Given the description of an element on the screen output the (x, y) to click on. 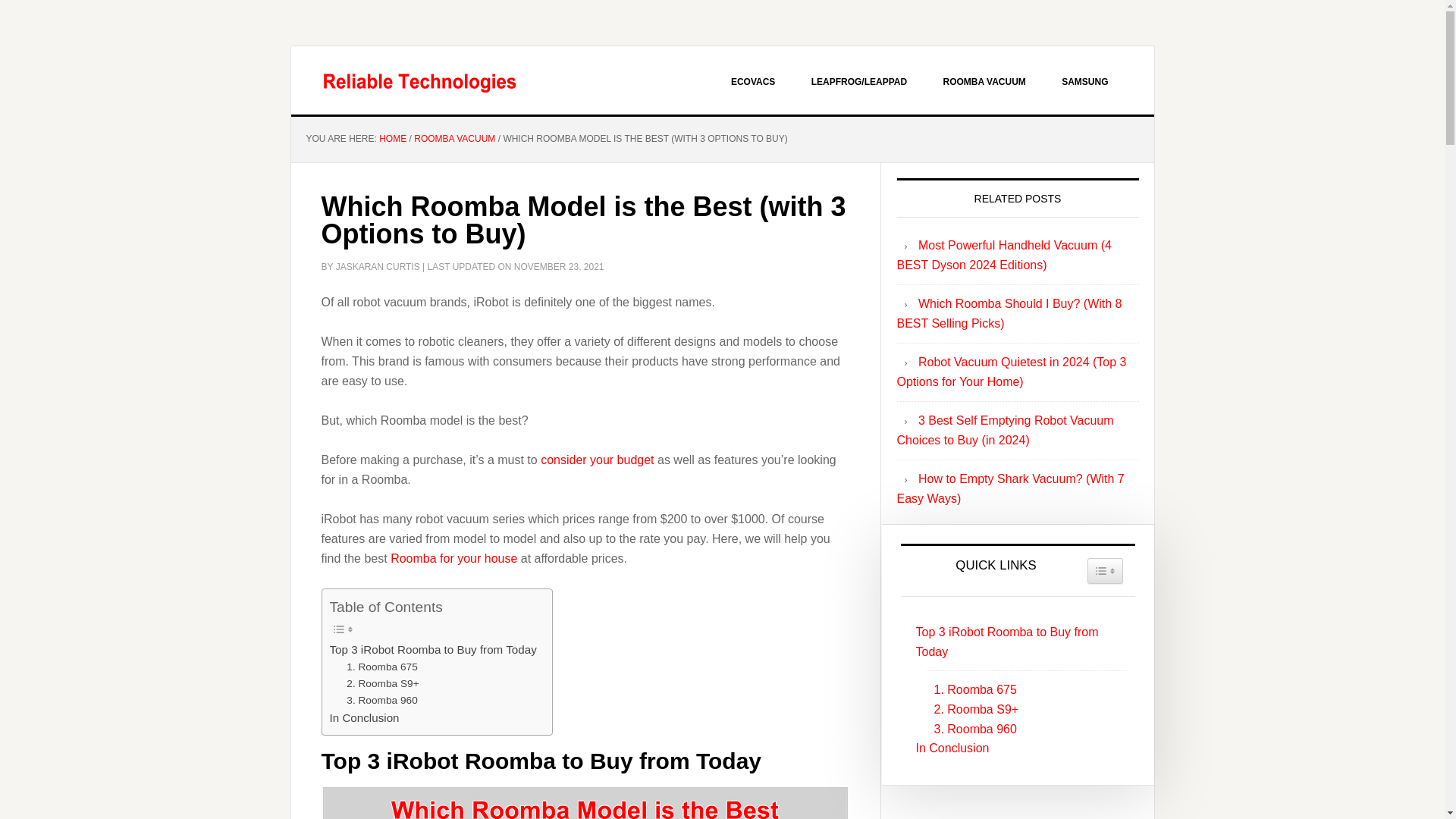
In Conclusion (363, 718)
1. Roomba 675 (971, 690)
In Conclusion (363, 718)
Top 3 iRobot Roomba to Buy from Today (1017, 641)
In Conclusion (949, 748)
1. Roomba 675 (381, 667)
TOGGLE TABLE OF CONTENT (1104, 570)
Top 3 iRobot Roomba to Buy from Today (432, 649)
RELIABLE TECHNOLOGIES - RELIABLENH.COM (419, 79)
Top 3 iRobot Roomba to Buy from Today (432, 649)
